Given the description of an element on the screen output the (x, y) to click on. 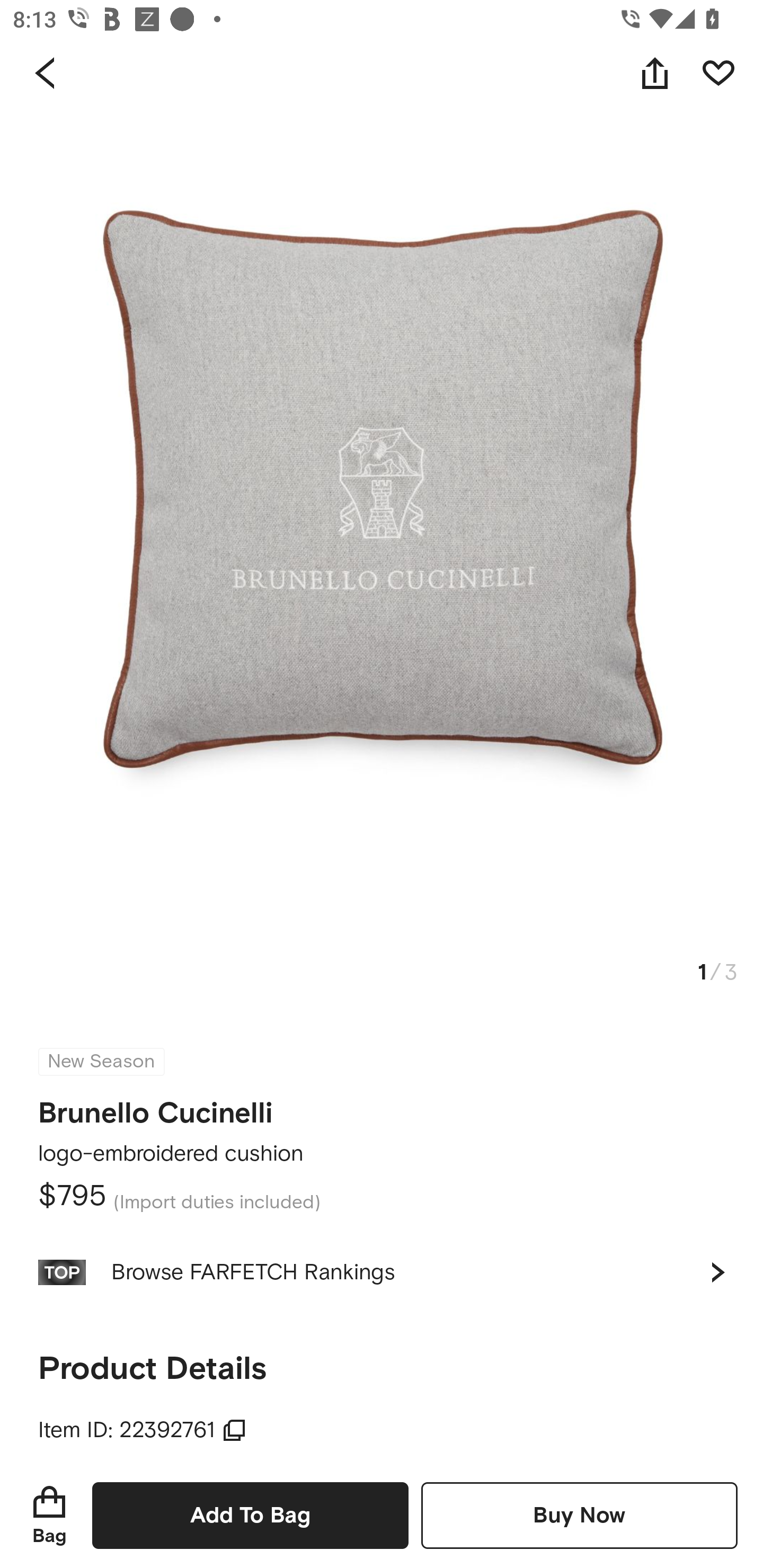
Brunello Cucinelli (155, 1107)
Browse FARFETCH Rankings (381, 1272)
Item ID: 22392761 (142, 1430)
Bag (49, 1515)
Add To Bag (250, 1515)
Buy Now (579, 1515)
